Given the description of an element on the screen output the (x, y) to click on. 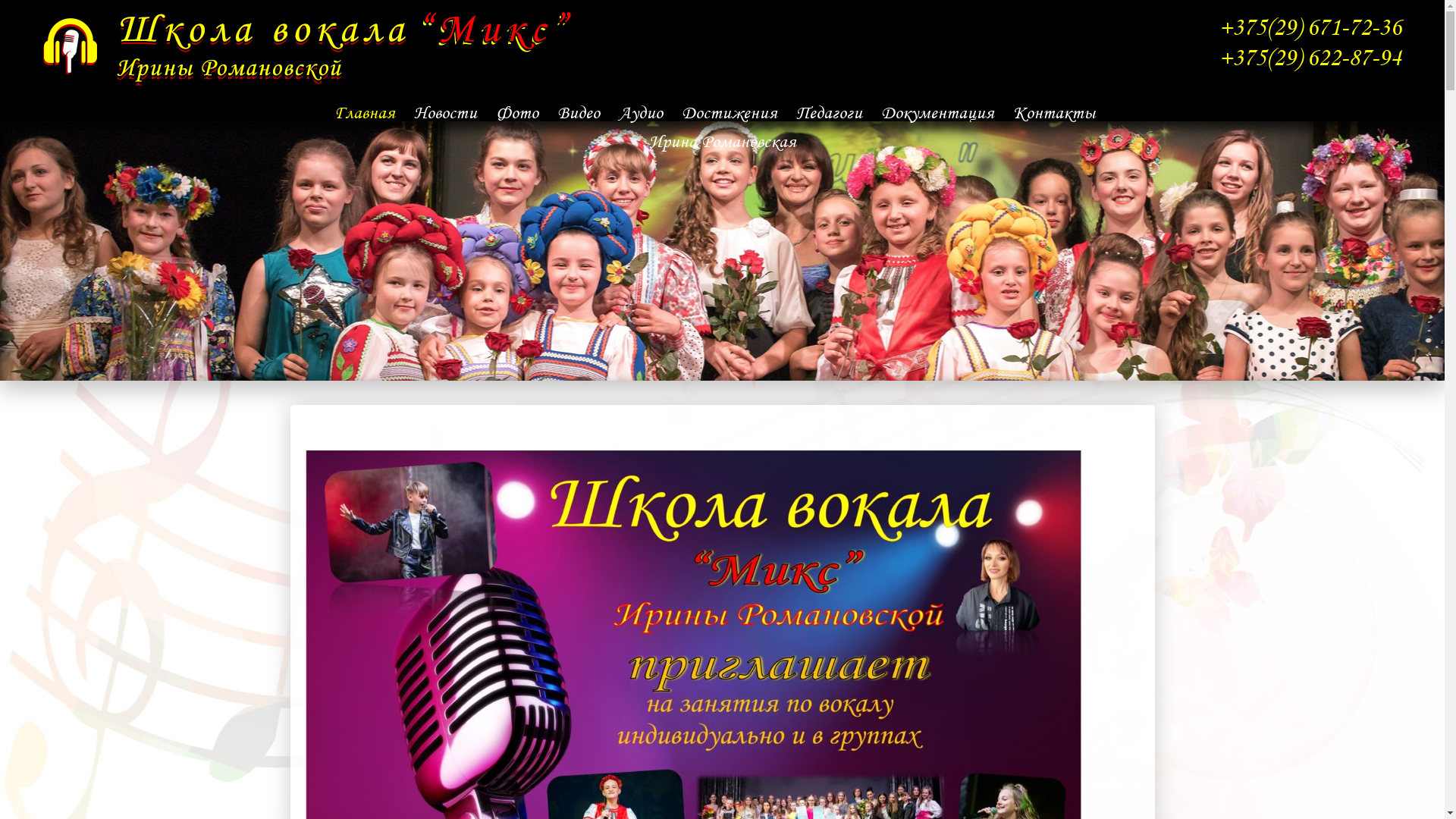
+375(29) 671-72-36 Element type: text (1309, 26)
+375(29) 622-87-94 Element type: text (1309, 56)
